Given the description of an element on the screen output the (x, y) to click on. 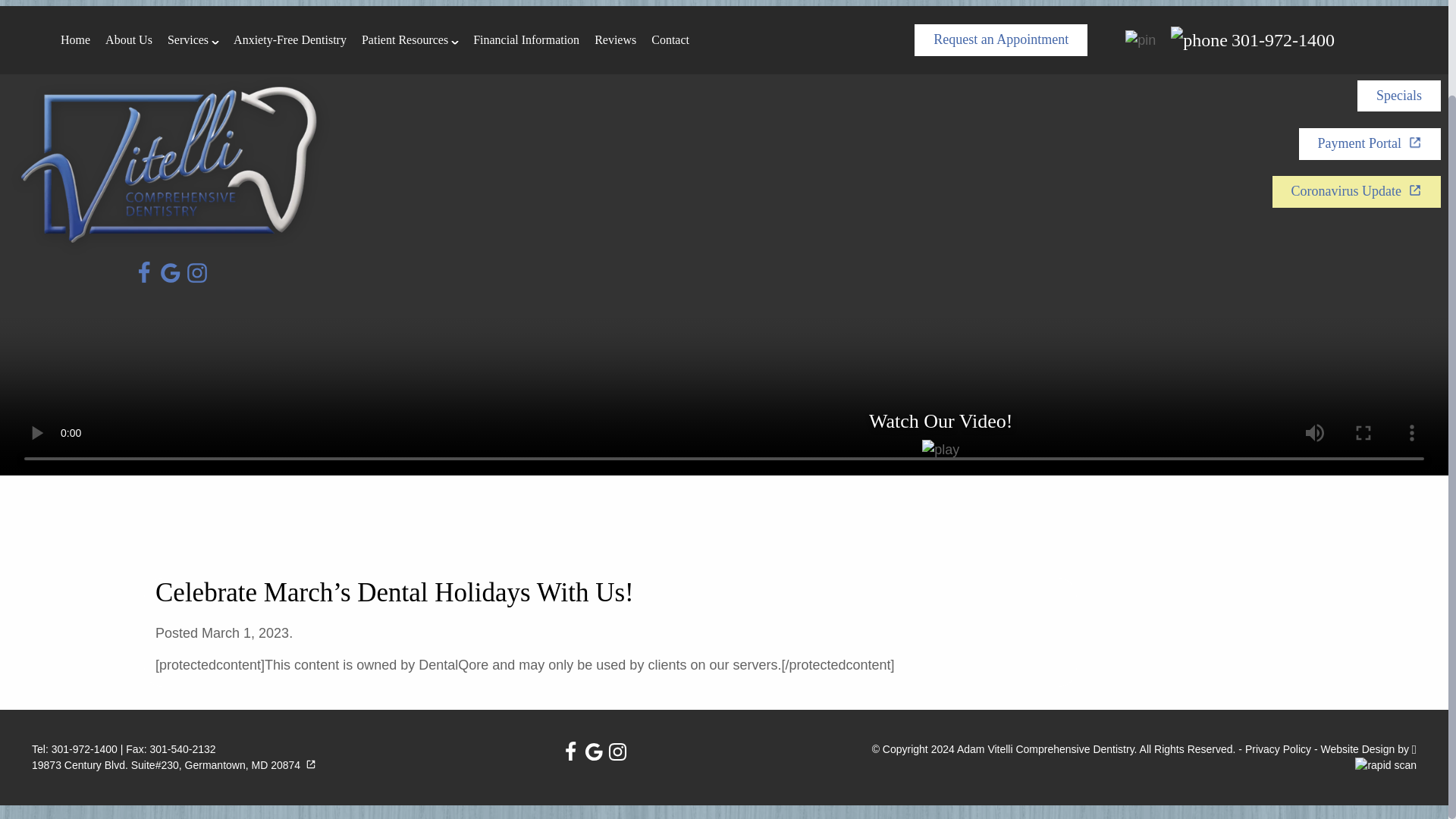
Instagram icon (617, 752)
Instagram icon (197, 272)
Facebook icon (570, 752)
Facebook icon (143, 272)
Google icon (593, 752)
Google icon (170, 272)
